Given the description of an element on the screen output the (x, y) to click on. 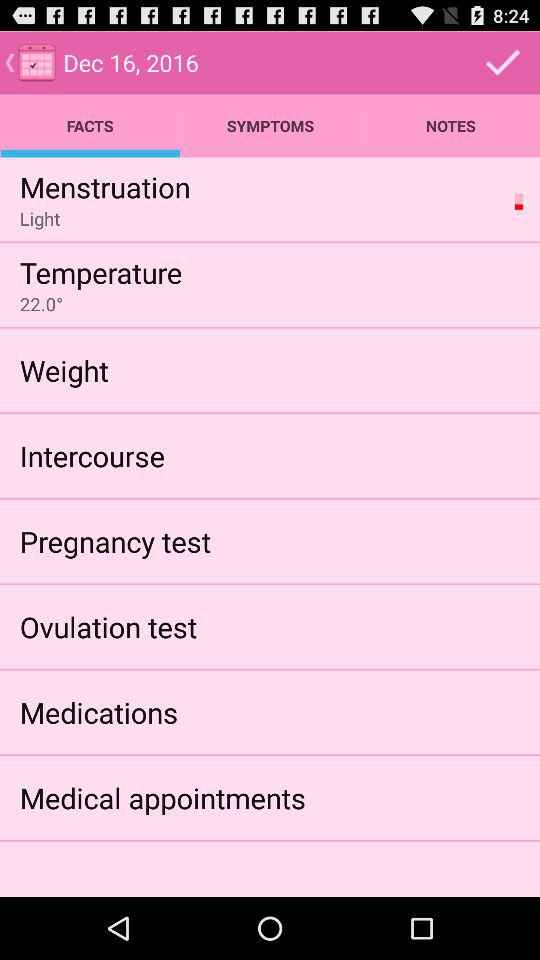
tap weight app (63, 369)
